Given the description of an element on the screen output the (x, y) to click on. 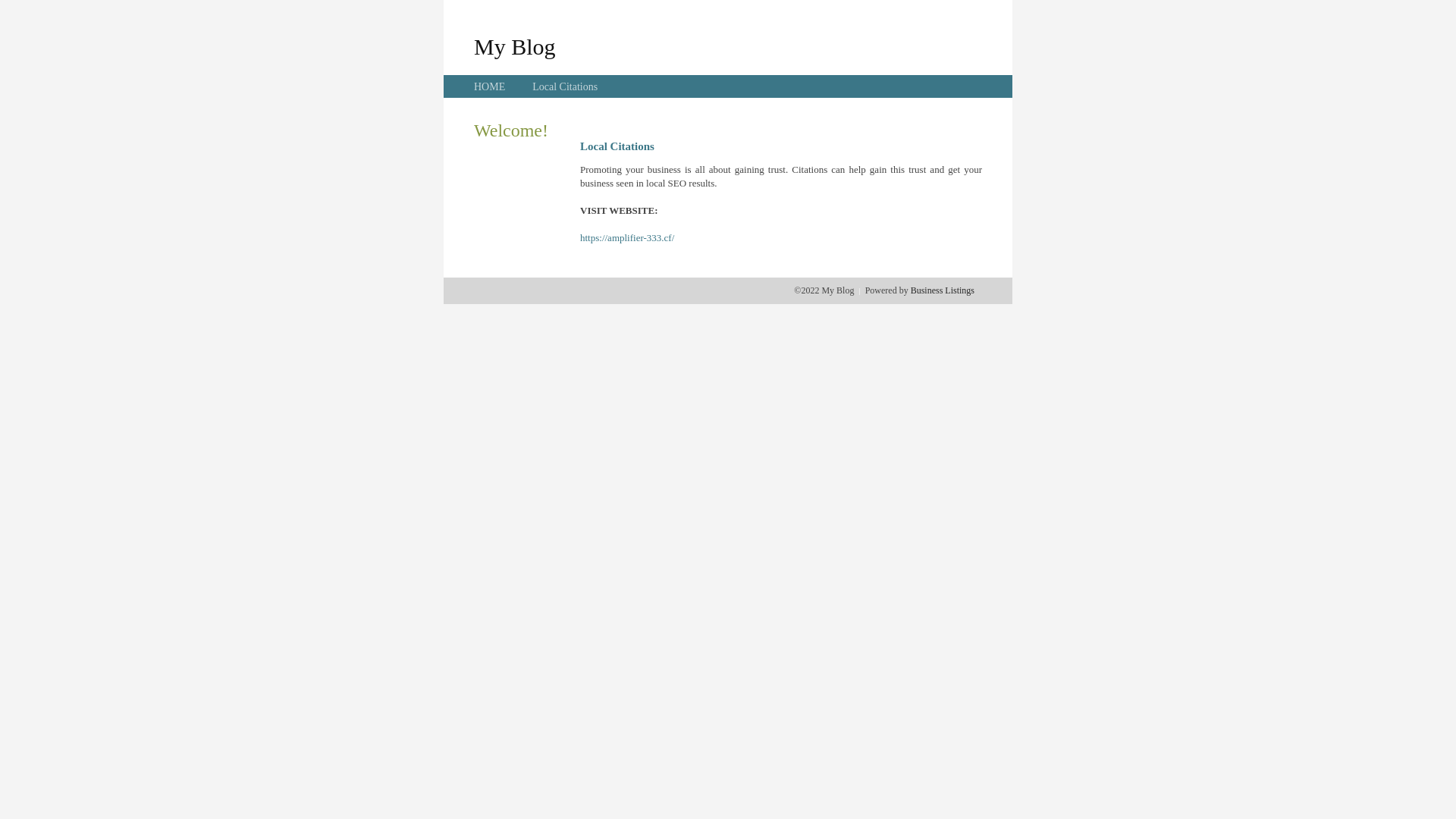
https://amplifier-333.cf/ Element type: text (627, 237)
Business Listings Element type: text (942, 290)
My Blog Element type: text (514, 46)
Local Citations Element type: text (564, 86)
HOME Element type: text (489, 86)
